Given the description of an element on the screen output the (x, y) to click on. 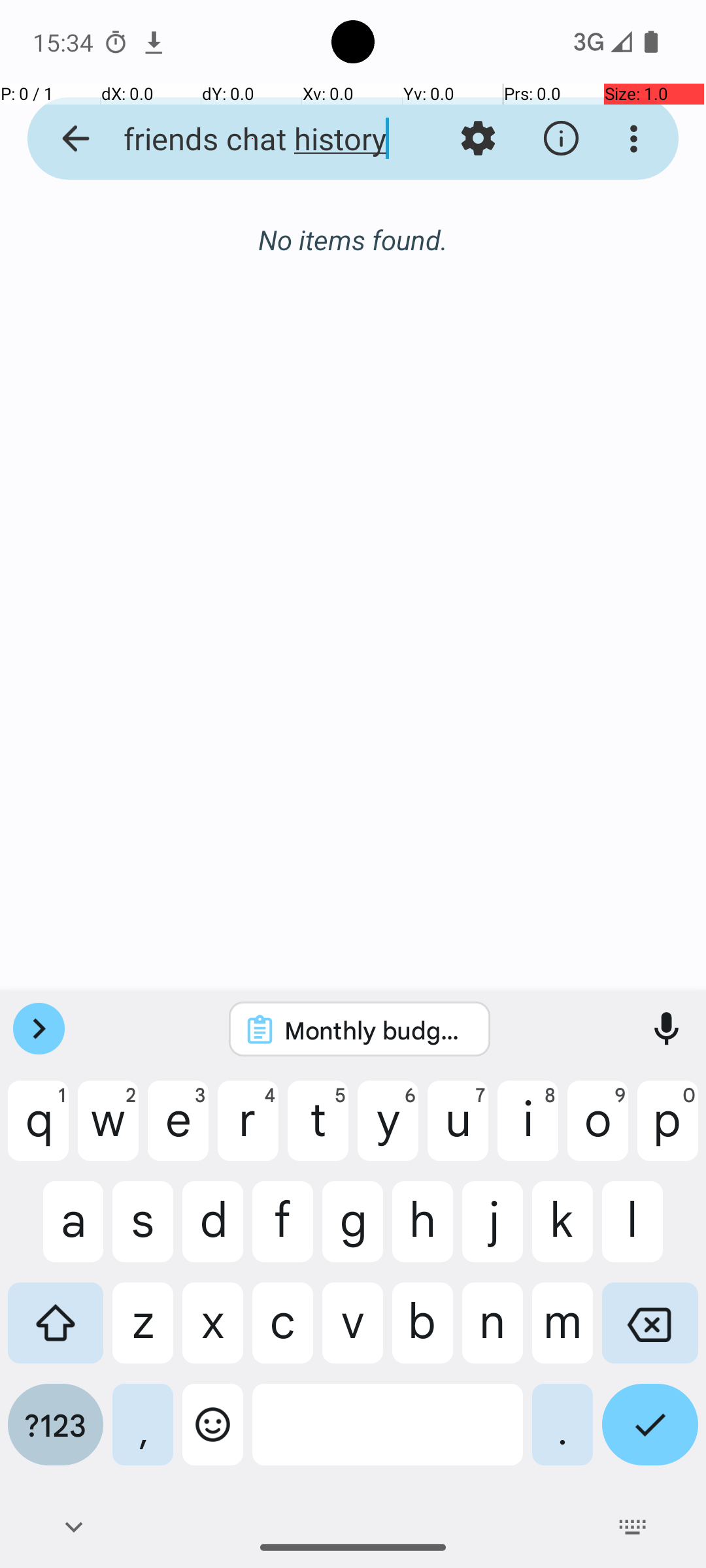
friends chat history Element type: android.widget.EditText (252, 138)
Monthly budget meeting pushed to Friday. Element type: android.widget.TextView (376, 1029)
